Given the description of an element on the screen output the (x, y) to click on. 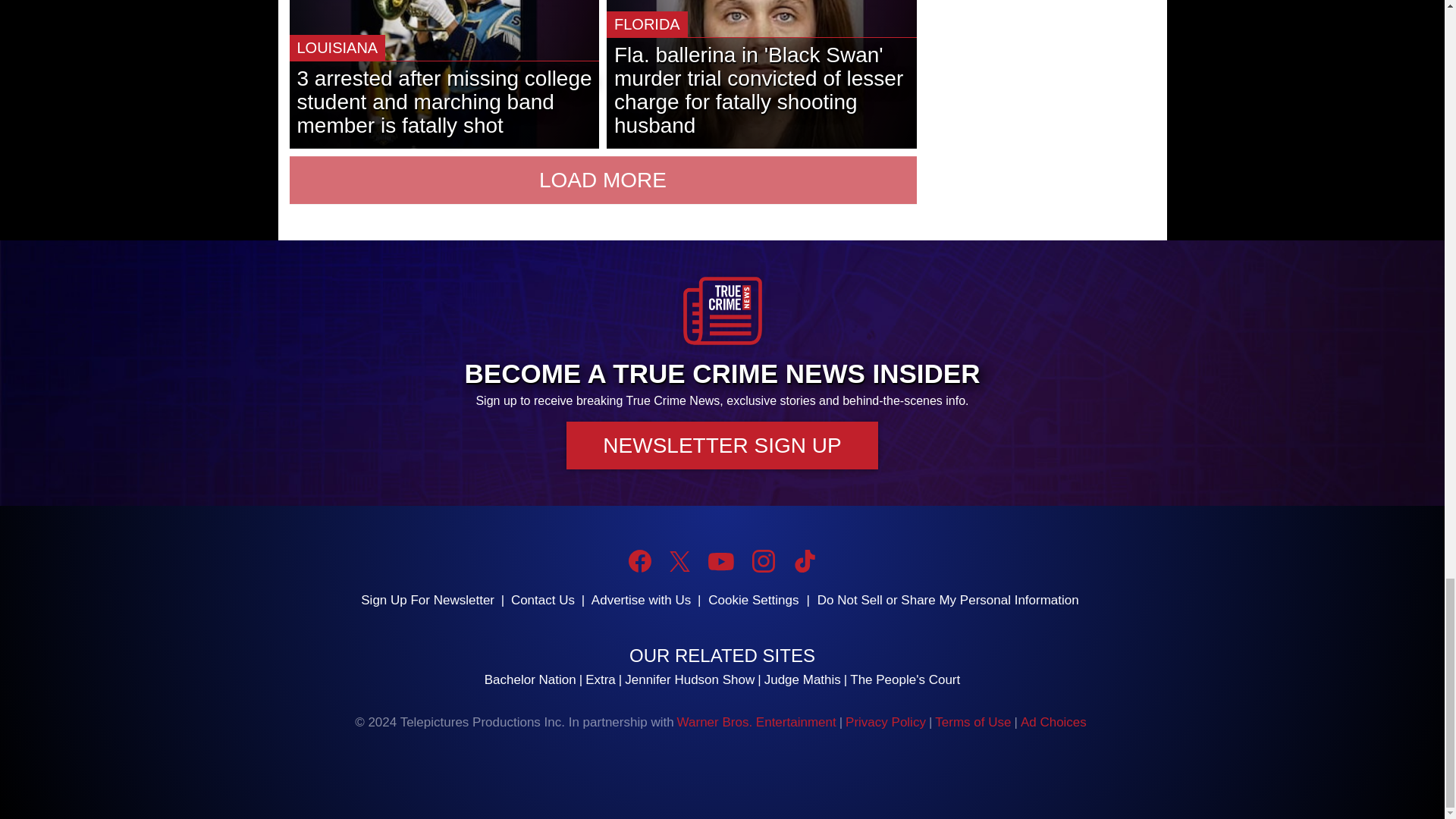
Instagram (763, 560)
Twitter (679, 561)
TikTok (804, 560)
Facebook (639, 560)
YouTube (720, 561)
